Given the description of an element on the screen output the (x, y) to click on. 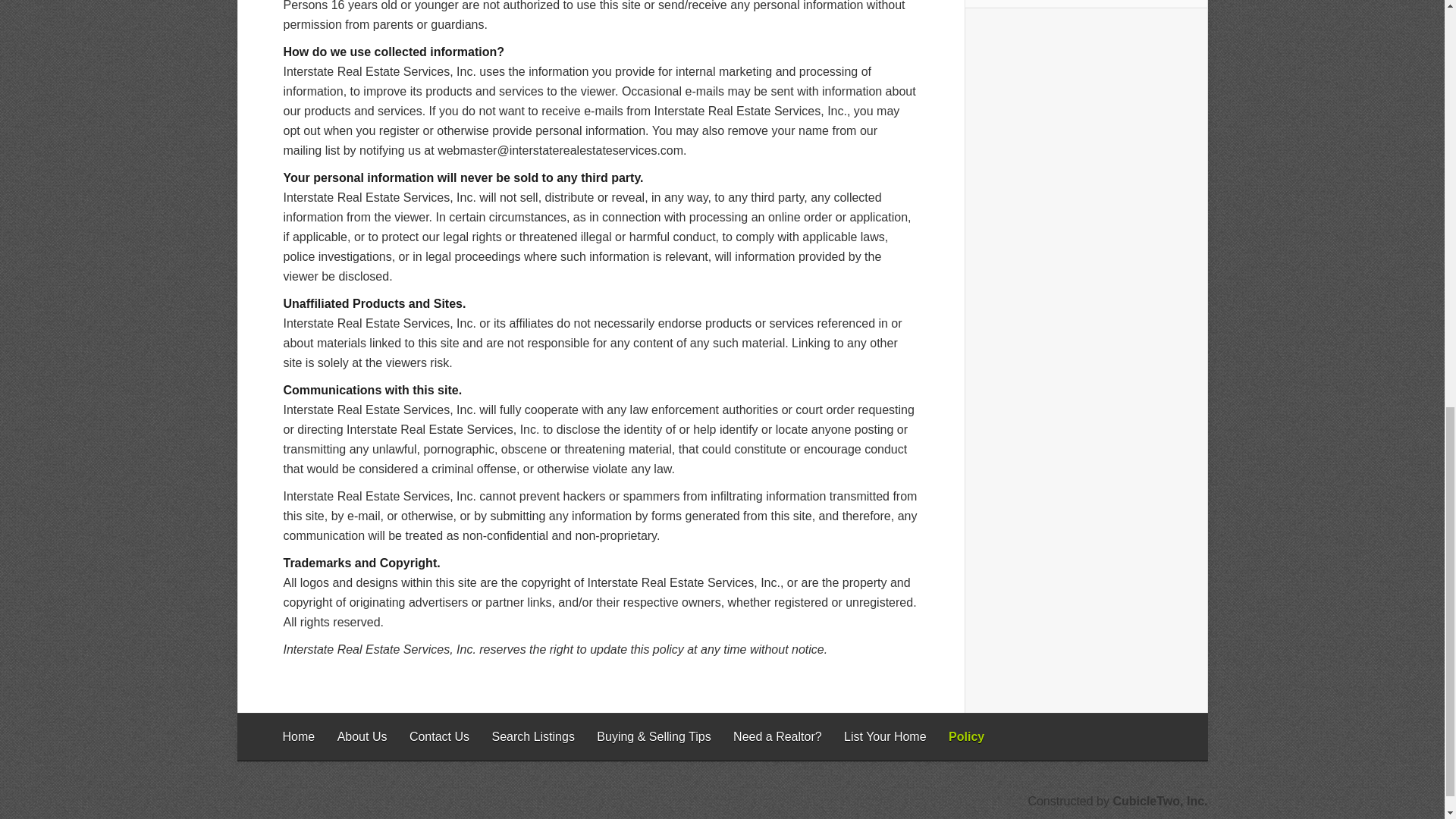
Home (298, 736)
Search Listings (532, 736)
About Us (362, 736)
Contact Us (438, 736)
CubicleTwo, Inc. (1159, 800)
CubicleTwo, Inc. (1159, 800)
Need a Realtor? (777, 736)
List Your Home (885, 736)
Policy (966, 736)
